Given the description of an element on the screen output the (x, y) to click on. 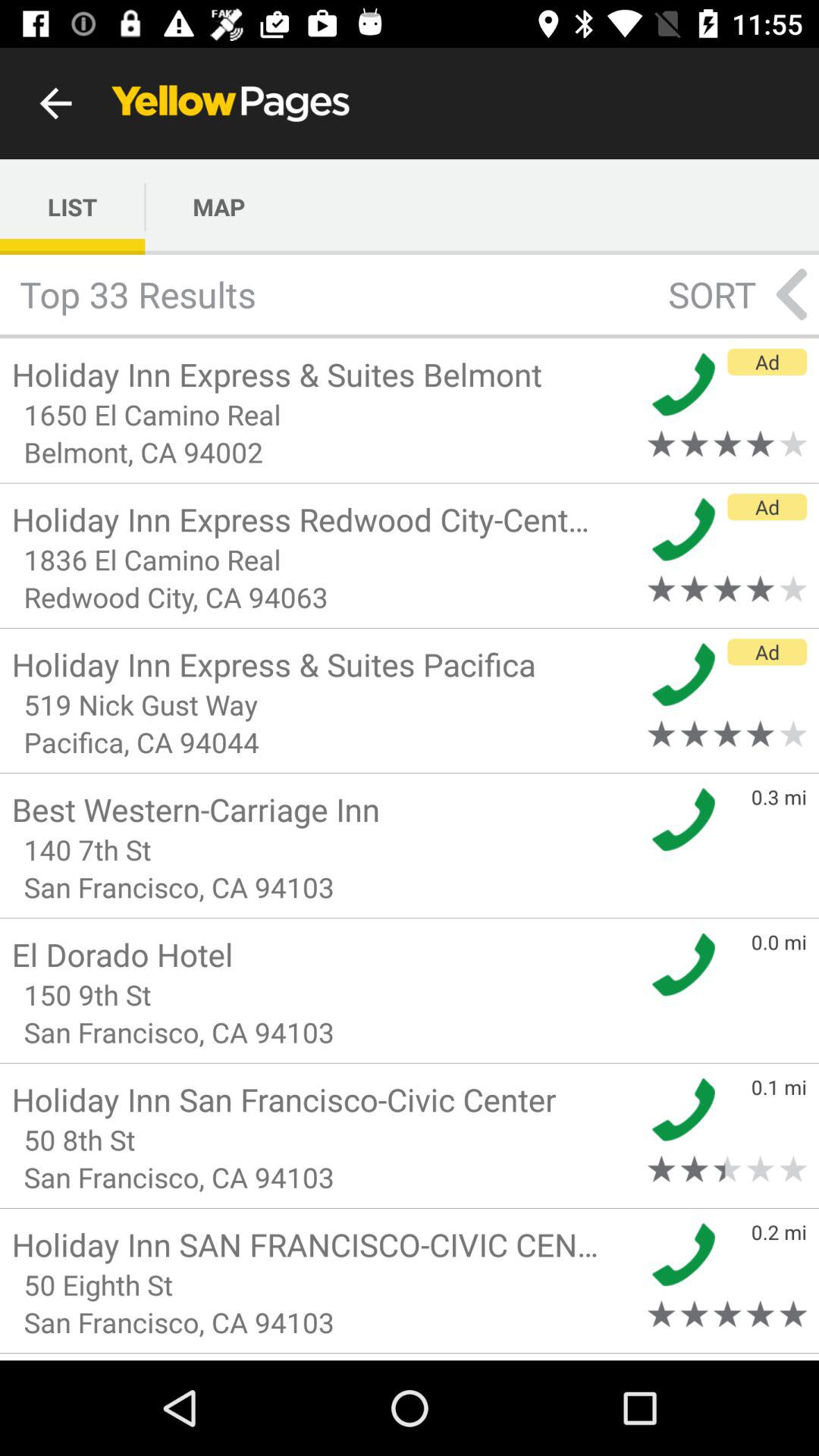
click the item above the list (55, 103)
